Given the description of an element on the screen output the (x, y) to click on. 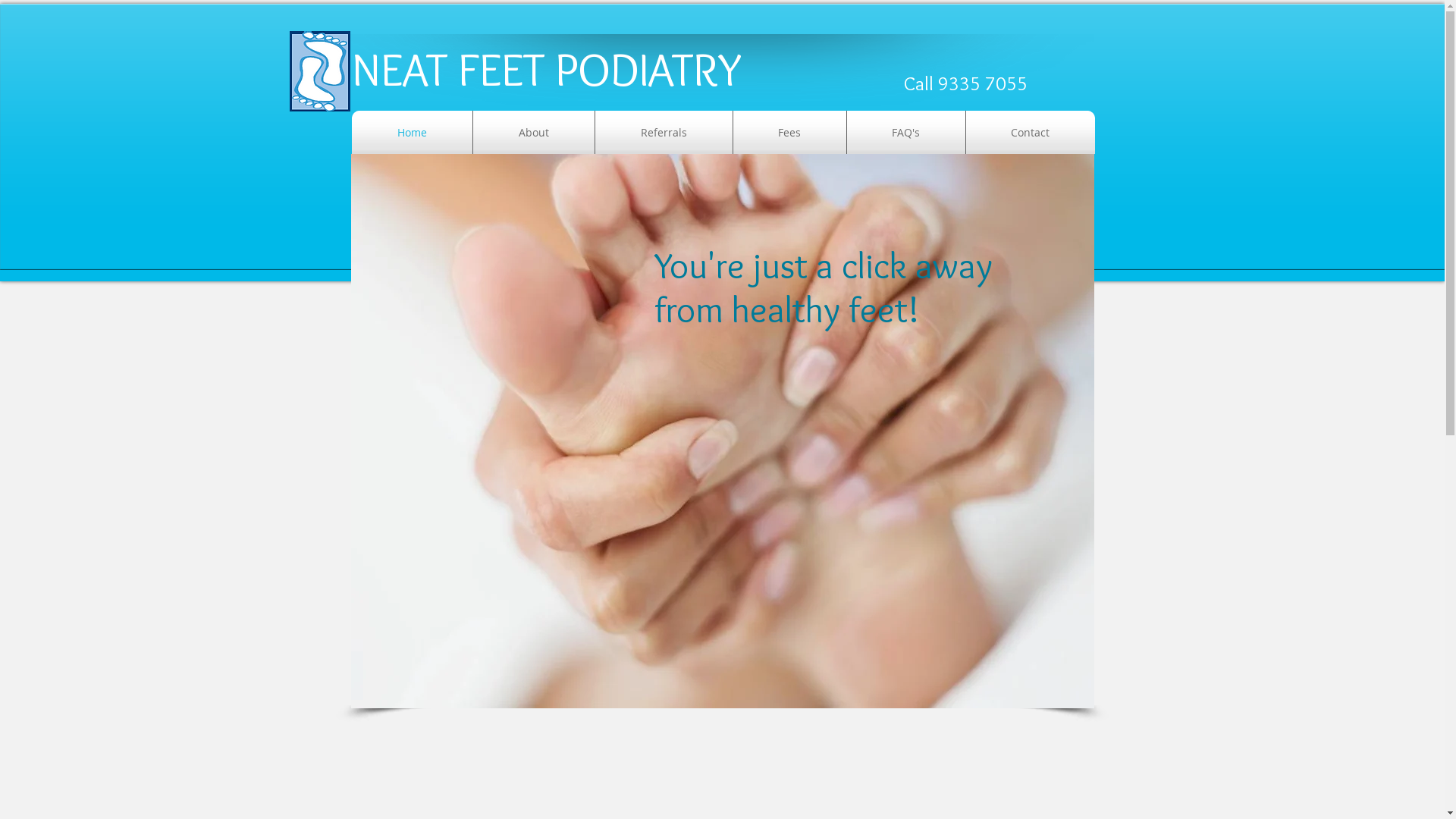
Home Element type: text (411, 131)
Fees Element type: text (788, 131)
FAQ's Element type: text (905, 131)
About Element type: text (533, 131)
Contact Element type: text (1030, 131)
Referrals Element type: text (662, 131)
